Given the description of an element on the screen output the (x, y) to click on. 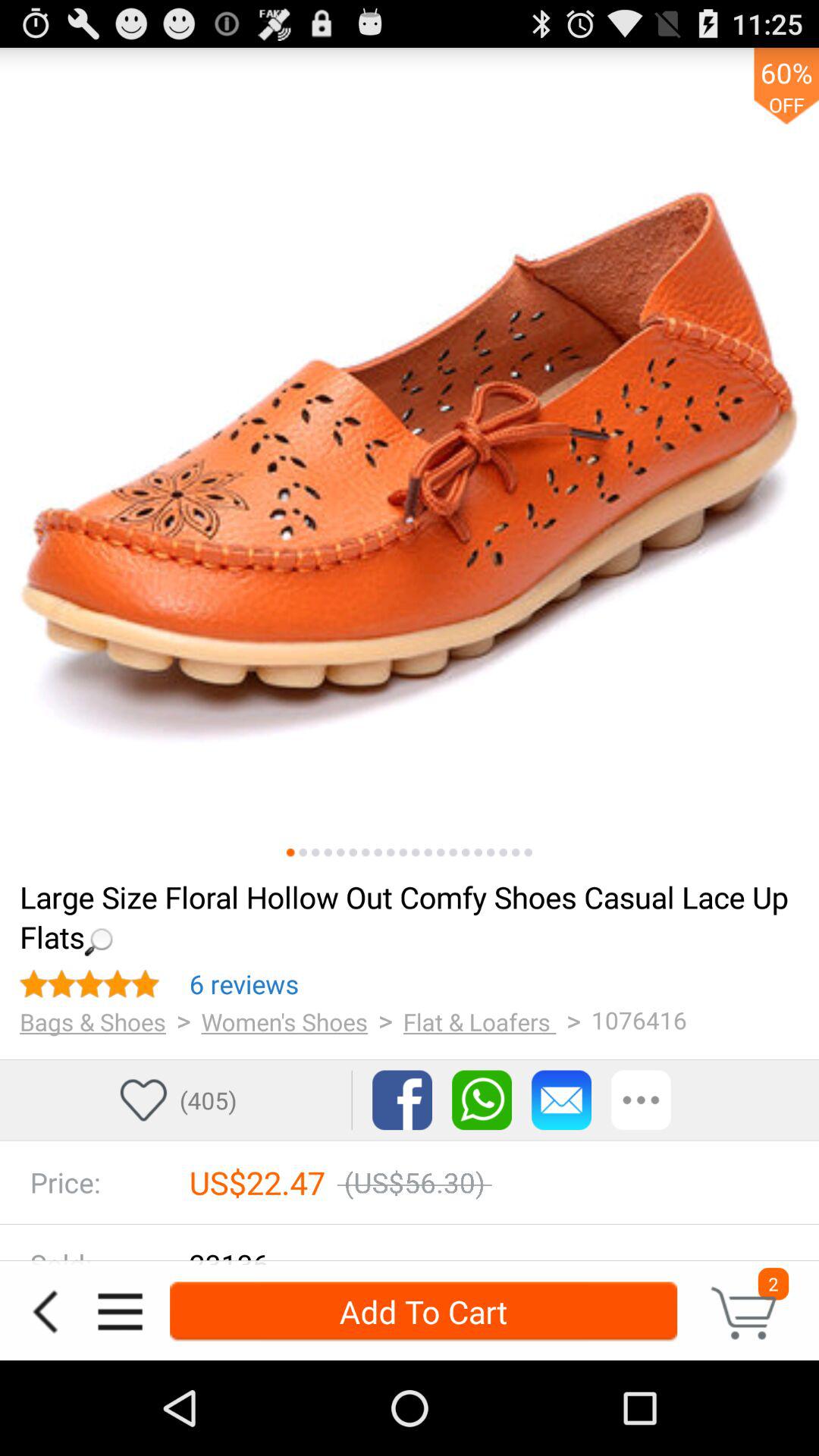
next item (353, 852)
